Given the description of an element on the screen output the (x, y) to click on. 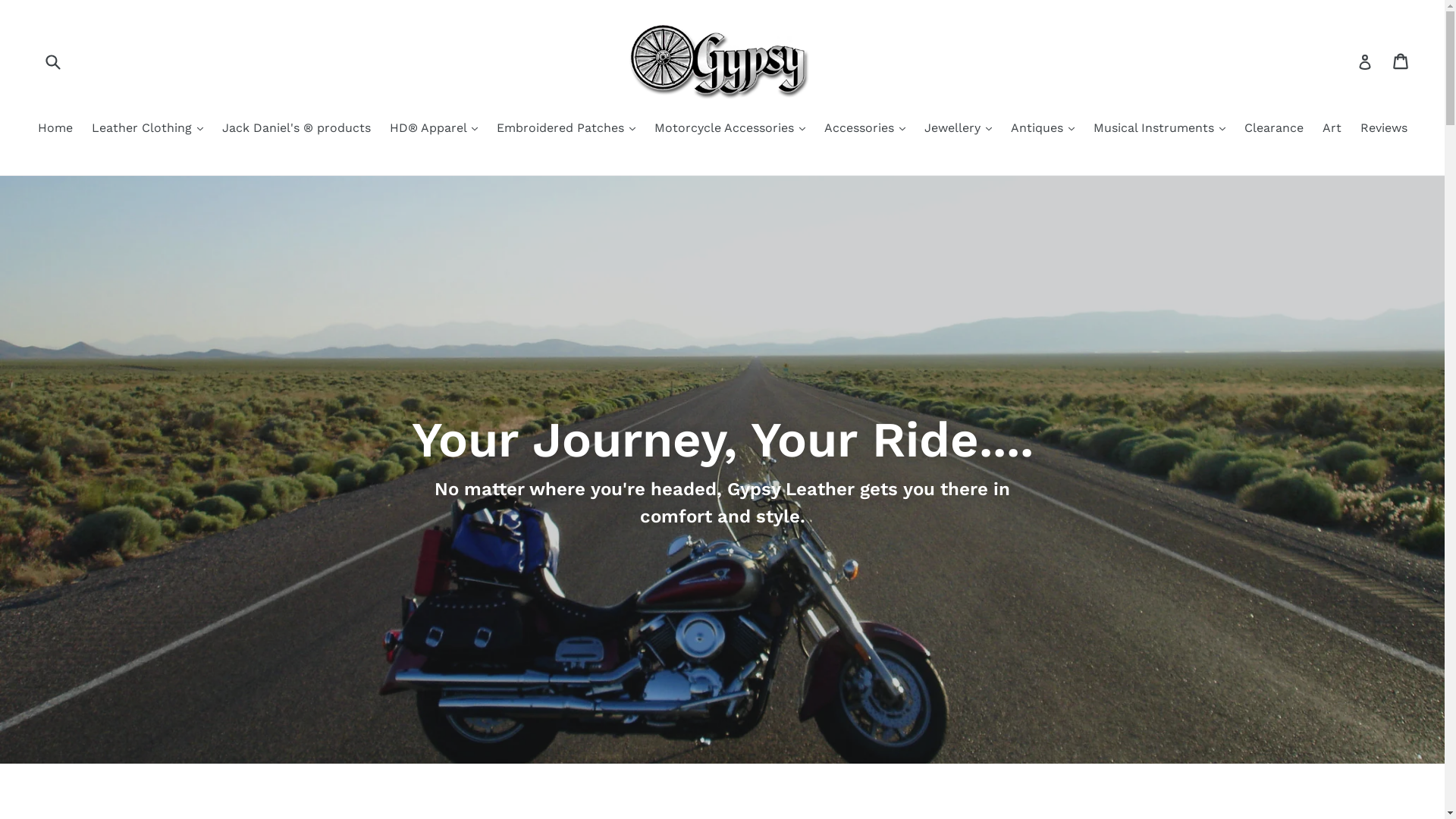
Cart
Cart Element type: text (1401, 60)
Submit Element type: text (51, 60)
Log in Element type: text (1364, 61)
Reviews Element type: text (1383, 129)
Art Element type: text (1331, 129)
Home Element type: text (55, 129)
Clearance Element type: text (1273, 129)
